Given the description of an element on the screen output the (x, y) to click on. 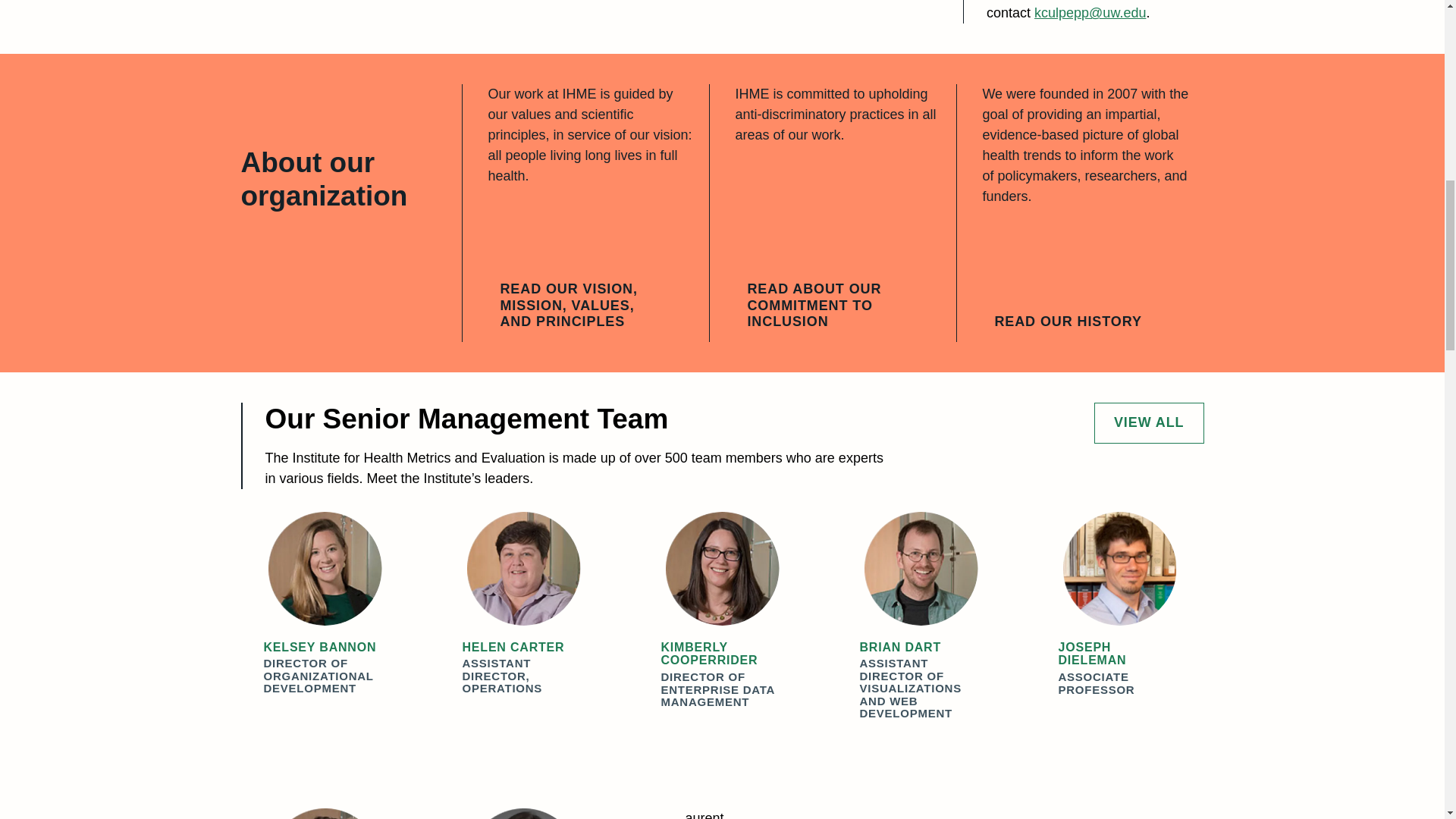
Read our vision, mission, values, and principles (590, 305)
View all (1149, 422)
Read our history (1077, 322)
Read about our commitment to inclusion (837, 305)
